Given the description of an element on the screen output the (x, y) to click on. 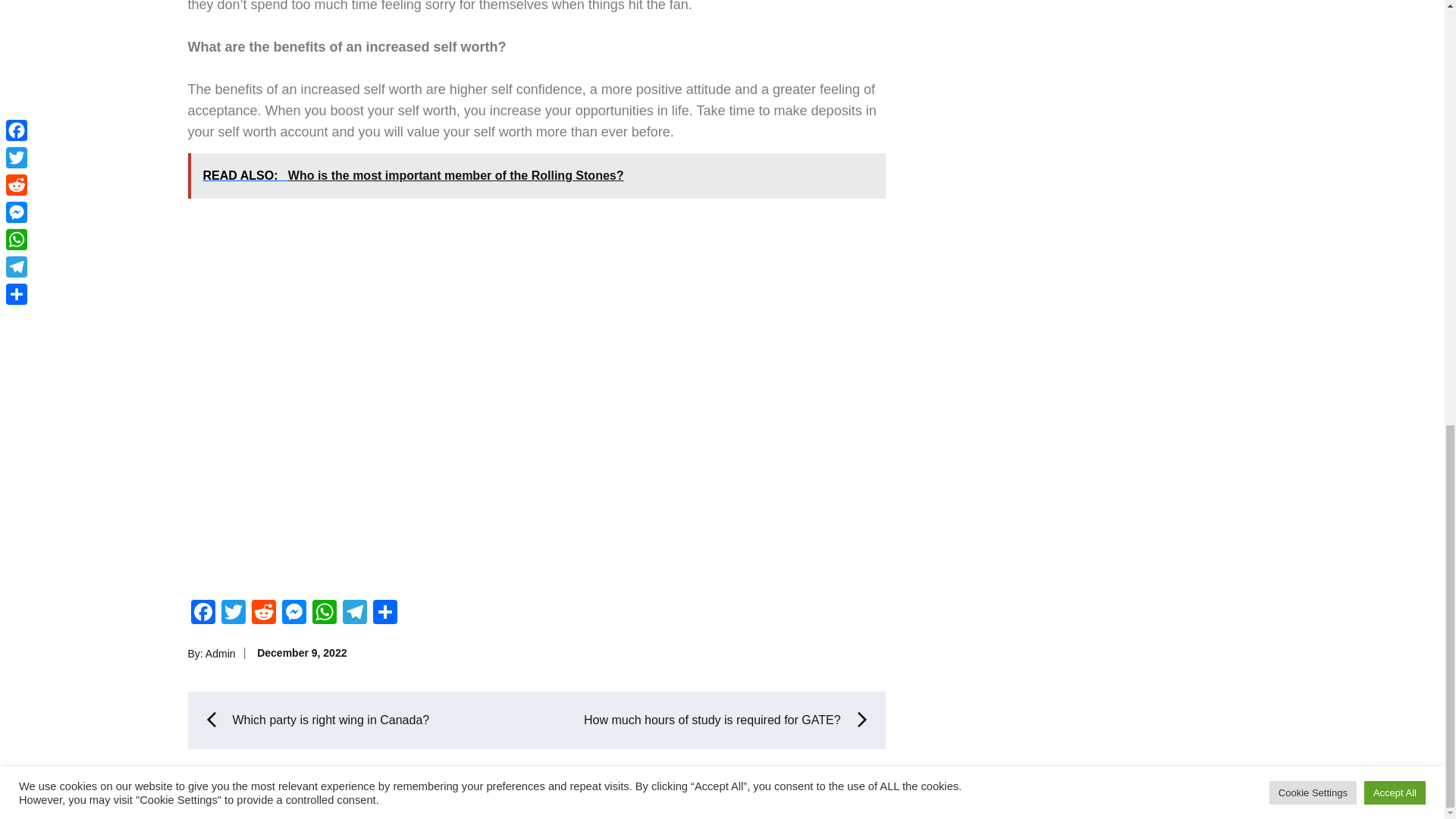
WhatsApp (323, 613)
Reddit (263, 613)
December 9, 2022 (301, 653)
WhatsApp (323, 613)
Messenger (293, 613)
Facebook (202, 613)
Twitter (233, 613)
Reddit (263, 613)
